Given the description of an element on the screen output the (x, y) to click on. 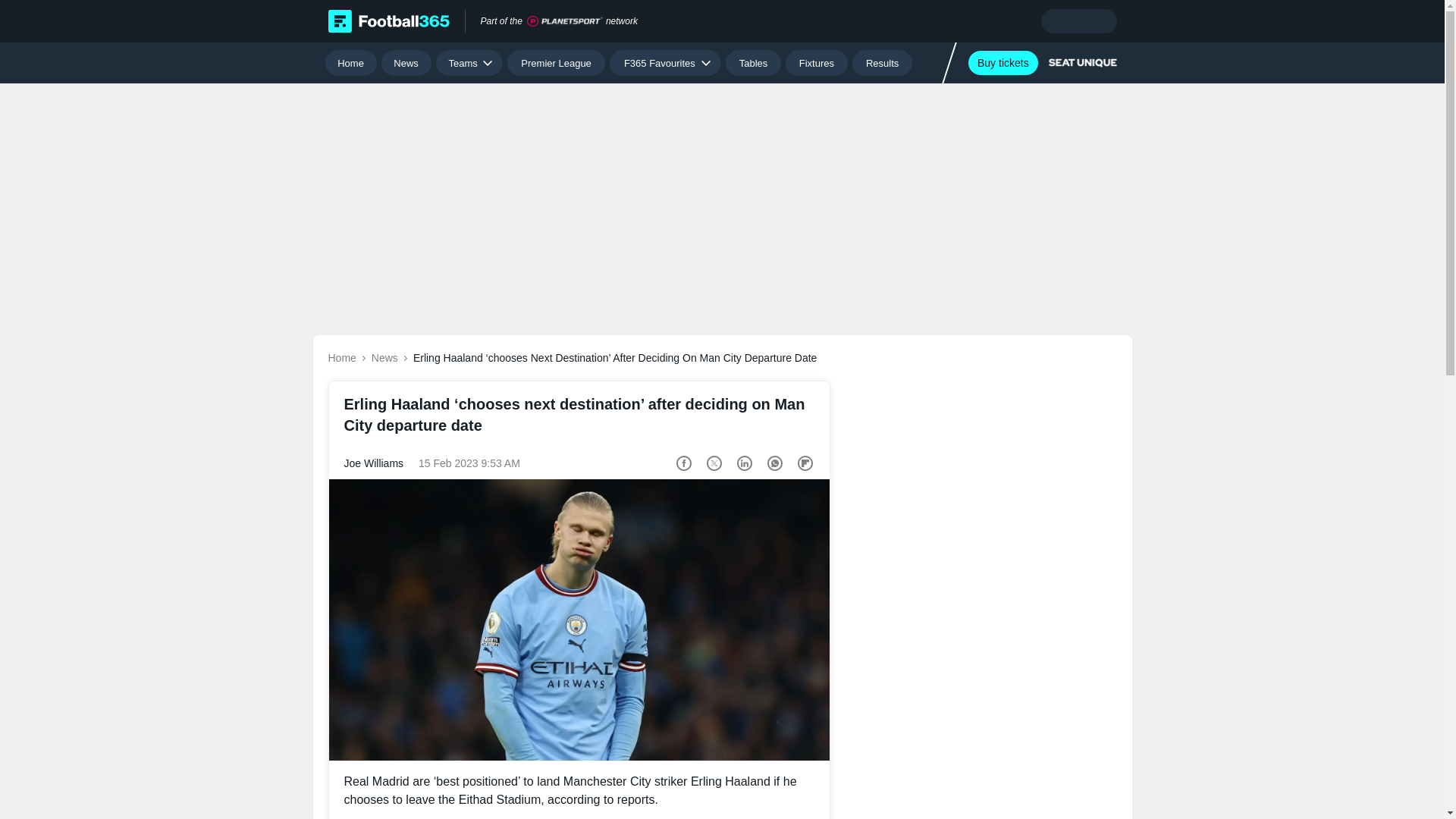
News (405, 62)
Teams (468, 62)
F365 Favourites (665, 62)
Fixtures (817, 62)
Premier League (555, 62)
Tables (752, 62)
Home (349, 62)
Buy tickets (1003, 62)
Results (881, 62)
